Given the description of an element on the screen output the (x, y) to click on. 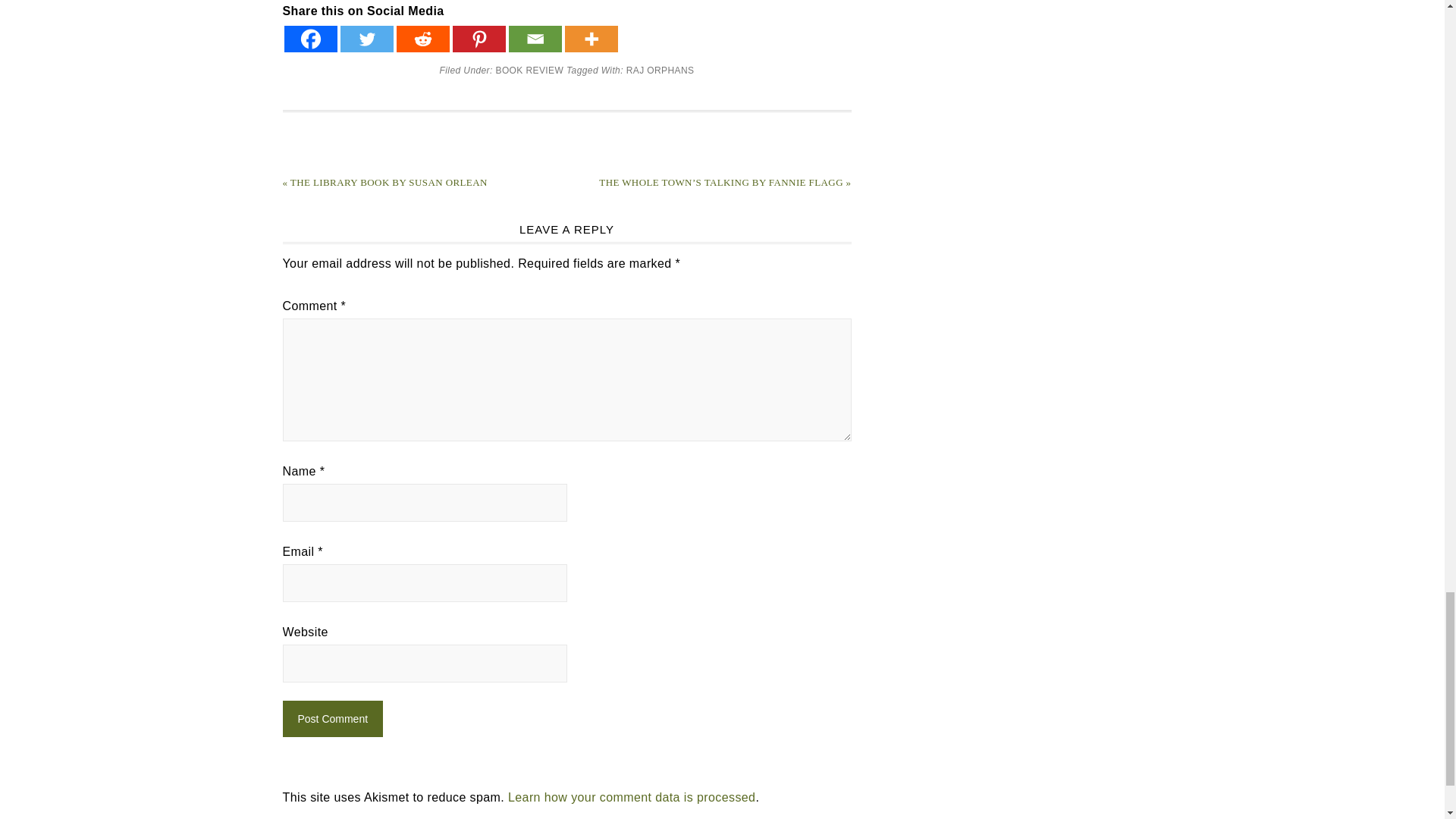
Learn how your comment data is processed (631, 797)
Reddit (422, 38)
BOOK REVIEW (529, 70)
Post Comment (332, 719)
More (590, 38)
Pinterest (478, 38)
Facebook (309, 38)
Post Comment (332, 719)
RAJ ORPHANS (660, 70)
Email (534, 38)
